Given the description of an element on the screen output the (x, y) to click on. 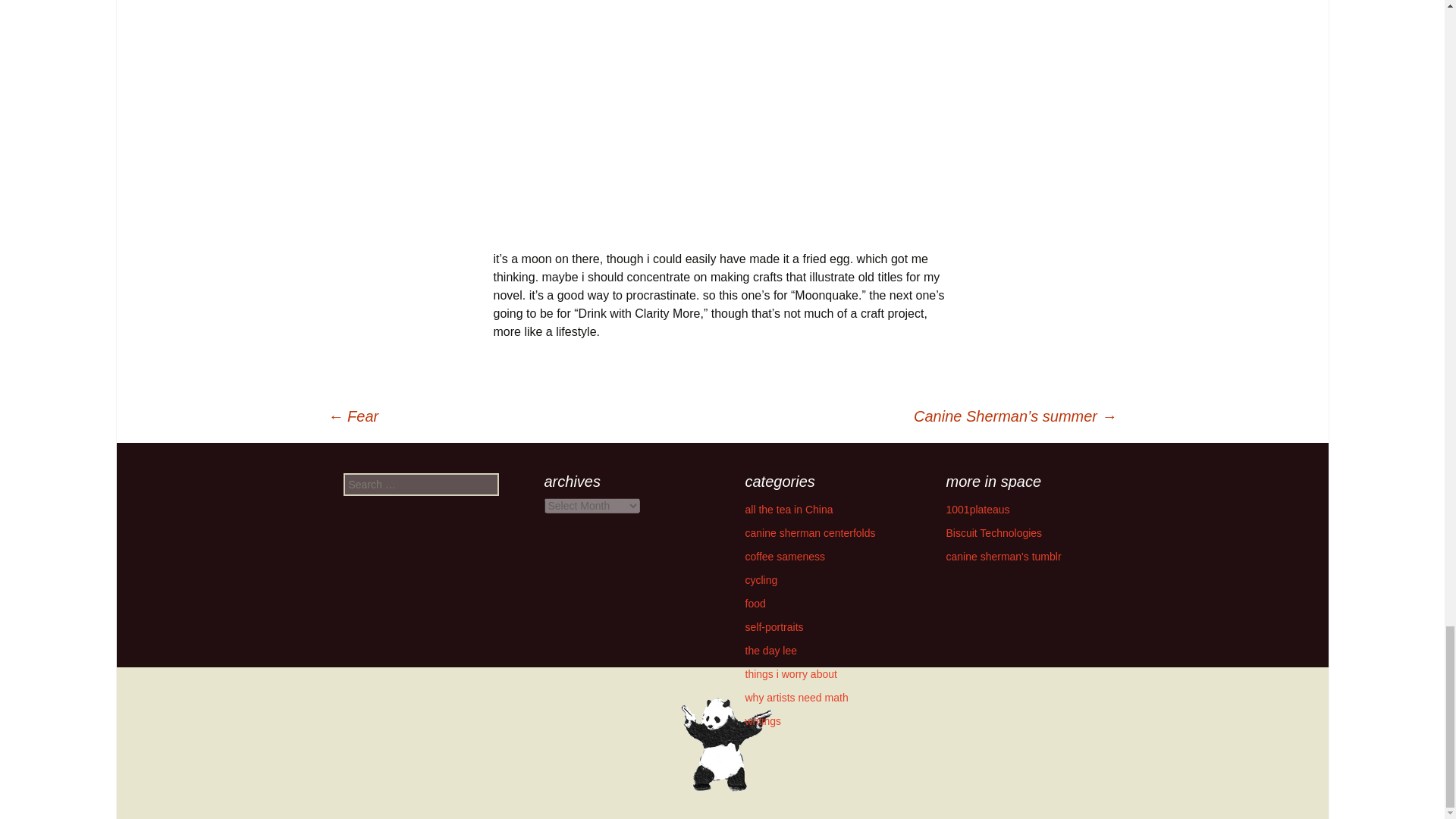
canine sherman centerfolds (809, 532)
coffee sameness (784, 556)
food (754, 603)
Biscuit Technologies (994, 532)
canine sherman's tumblr (1003, 556)
iphonesack2 (721, 115)
self-portraits (773, 626)
1001plateaus (978, 509)
Chinese tea, teapots and tastings (978, 509)
cycling (760, 580)
